Given the description of an element on the screen output the (x, y) to click on. 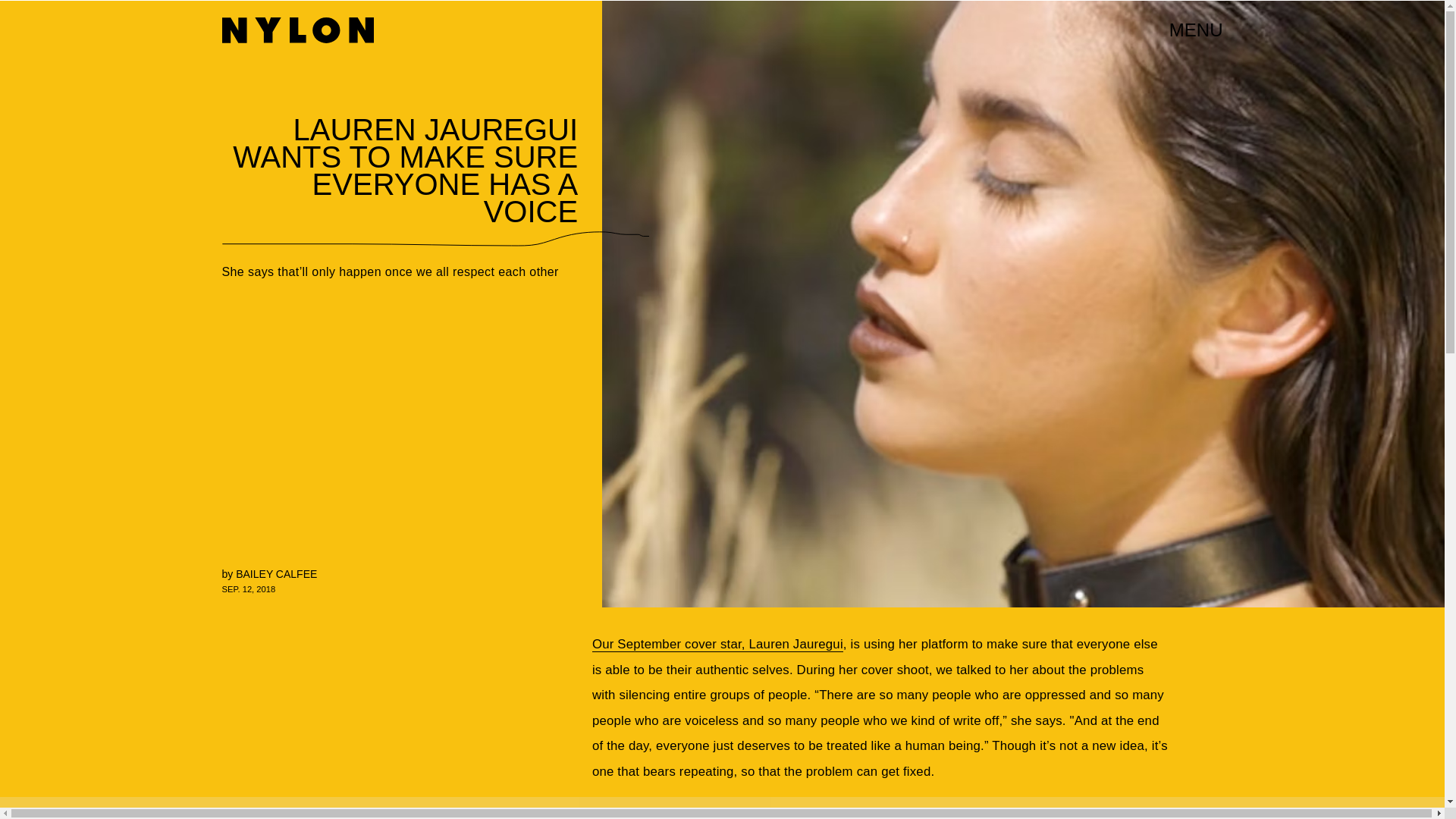
Our September cover star, Lauren Jauregui (717, 644)
Nylon (296, 30)
BAILEY CALFEE (276, 573)
